Given the description of an element on the screen output the (x, y) to click on. 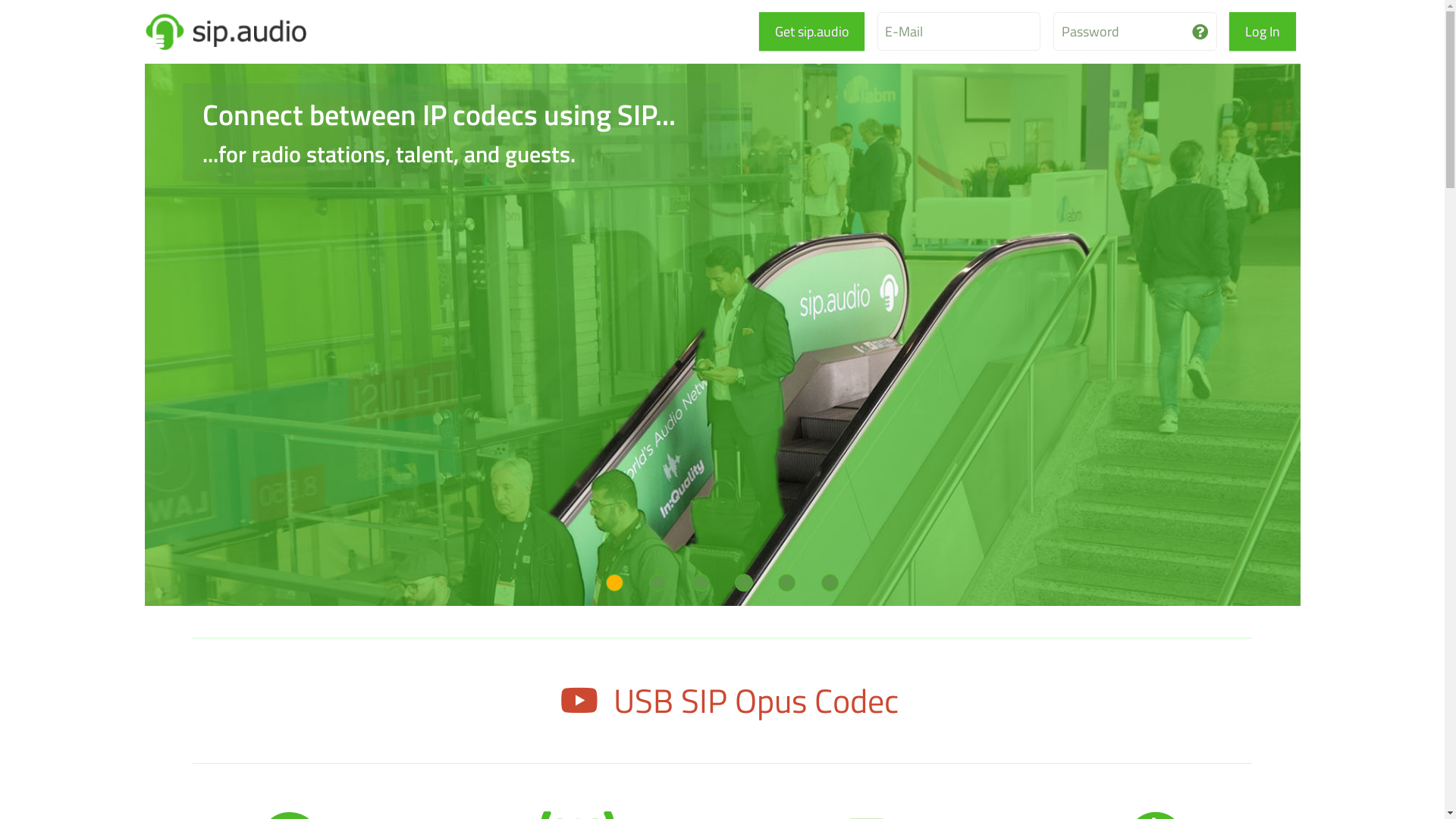
USB SIP Opus Codec Element type: text (722, 699)
Log In Element type: text (1262, 31)
Recover your Password Element type: hover (1200, 31)
Get sip.audio Element type: text (811, 31)
